Given the description of an element on the screen output the (x, y) to click on. 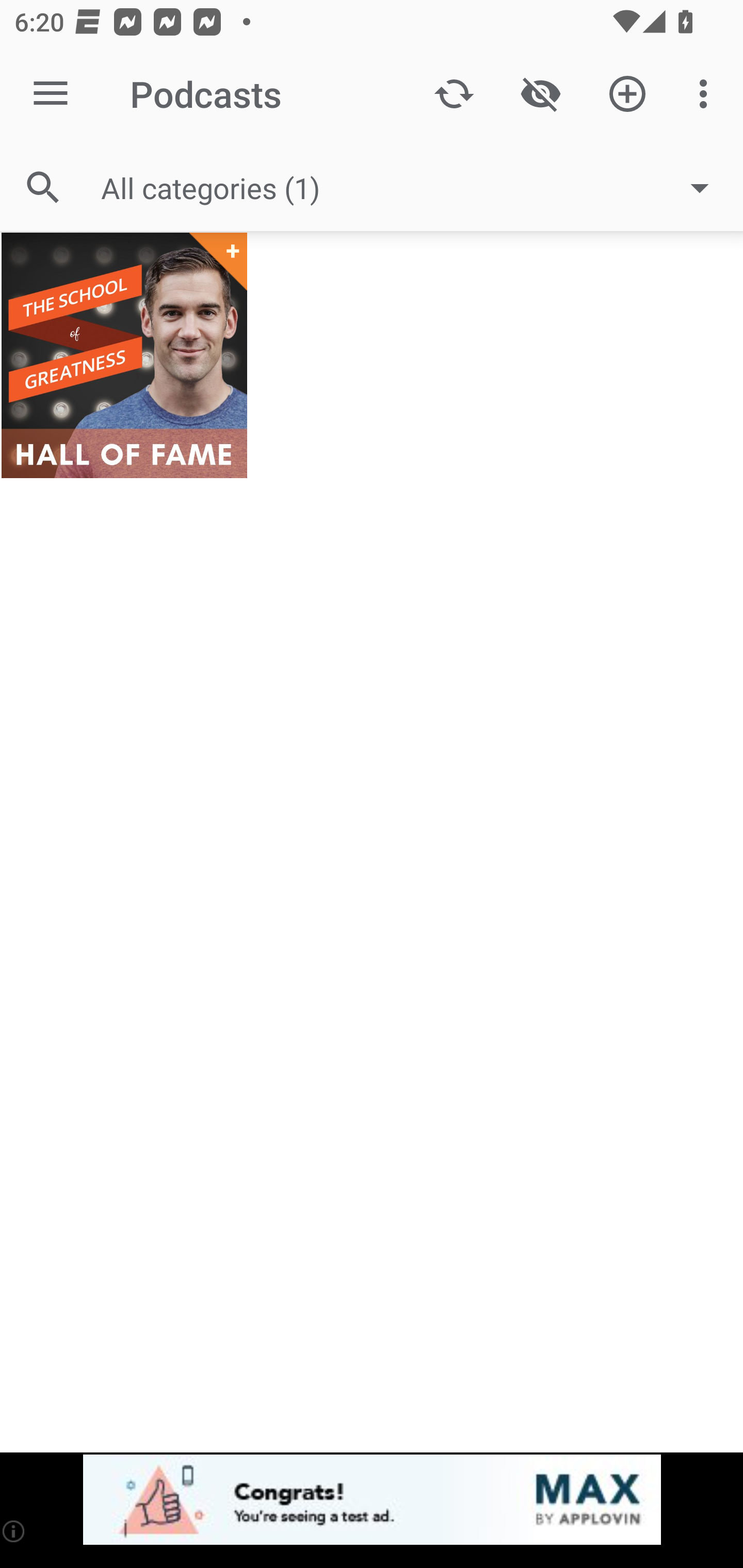
Open navigation sidebar (50, 93)
Update (453, 93)
Show / Hide played content (540, 93)
Add new Podcast (626, 93)
More options (706, 93)
Search (43, 187)
All categories (1) (414, 188)
The School of Greatness Hall of Fame + (124, 355)
app-monetization (371, 1500)
(i) (14, 1531)
